Given the description of an element on the screen output the (x, y) to click on. 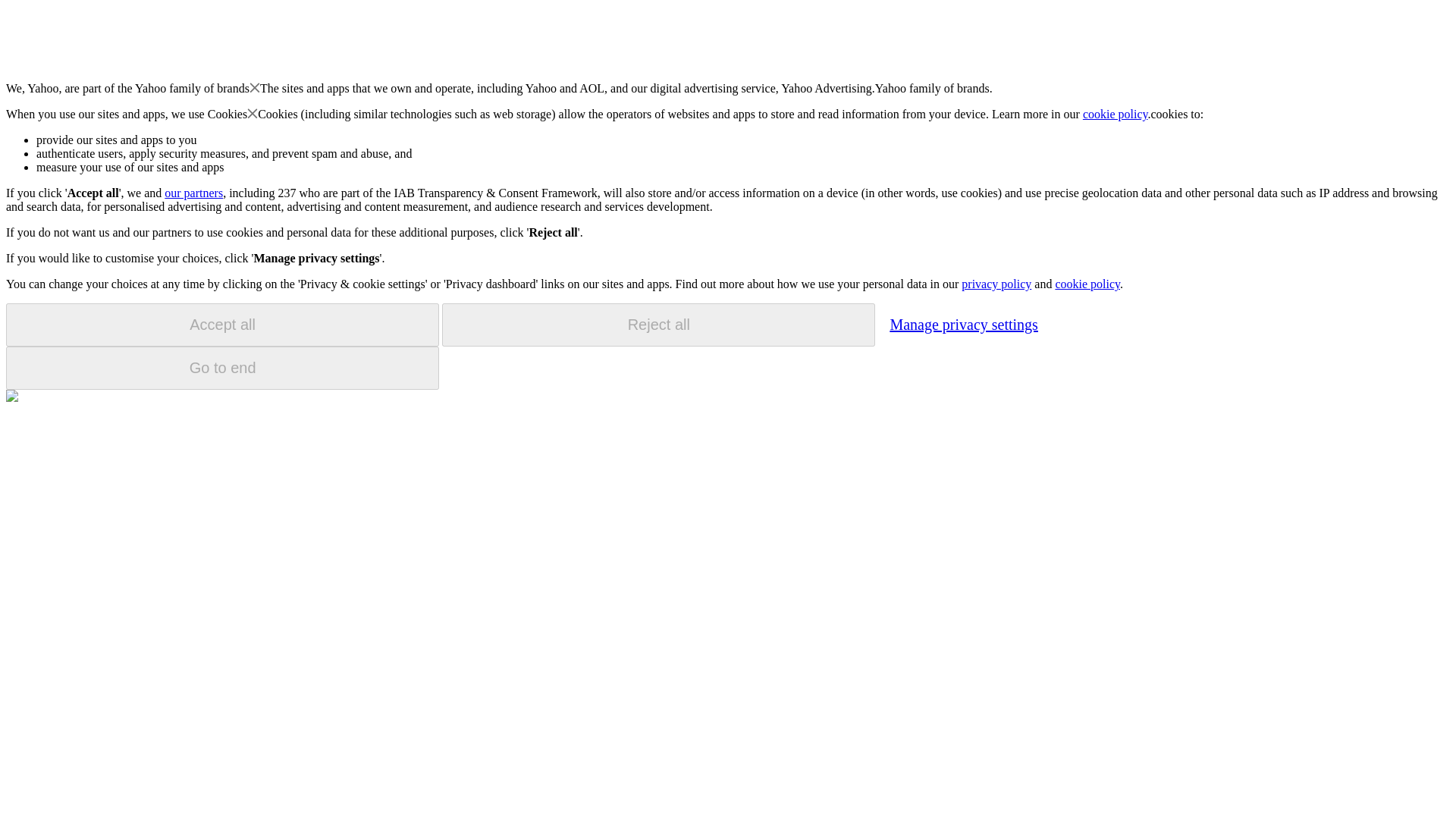
cookie policy (1086, 283)
Go to end (222, 367)
privacy policy (995, 283)
cookie policy (1115, 113)
Reject all (658, 324)
Manage privacy settings (963, 323)
our partners (193, 192)
Accept all (222, 324)
